Given the description of an element on the screen output the (x, y) to click on. 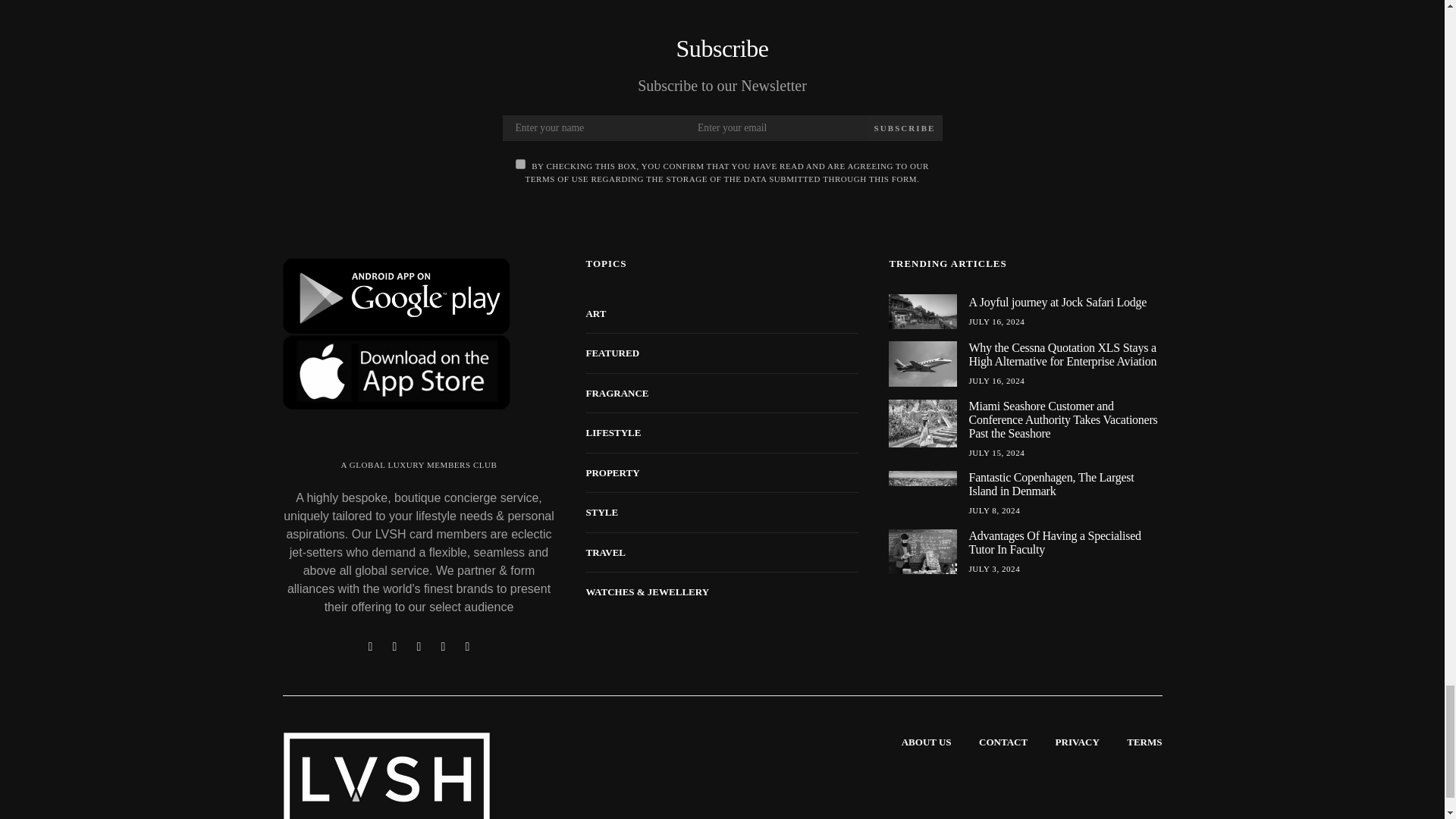
on (520, 163)
